Given the description of an element on the screen output the (x, y) to click on. 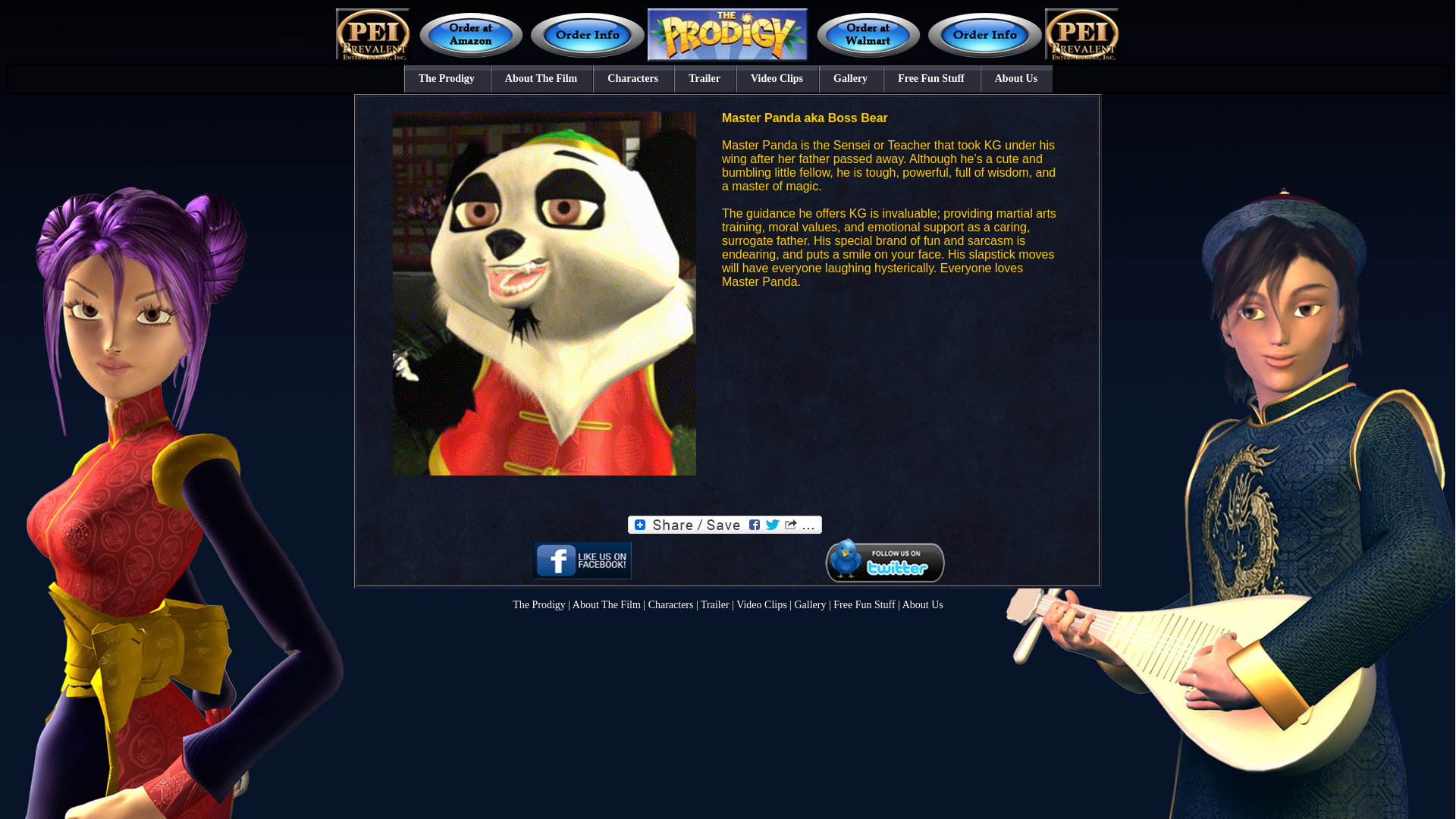
About The Film (606, 604)
Free Fun Stuff (930, 78)
About Us (1015, 78)
The Prodigy (539, 604)
Gallery (850, 78)
Characters (632, 78)
Trailer (703, 78)
About The Film (540, 78)
Gallery (809, 604)
Free Fun Stuff (863, 604)
Video Clips (776, 78)
Characters (670, 604)
Trailer (714, 604)
The Prodigy (446, 78)
Video Clips (761, 604)
